Given the description of an element on the screen output the (x, y) to click on. 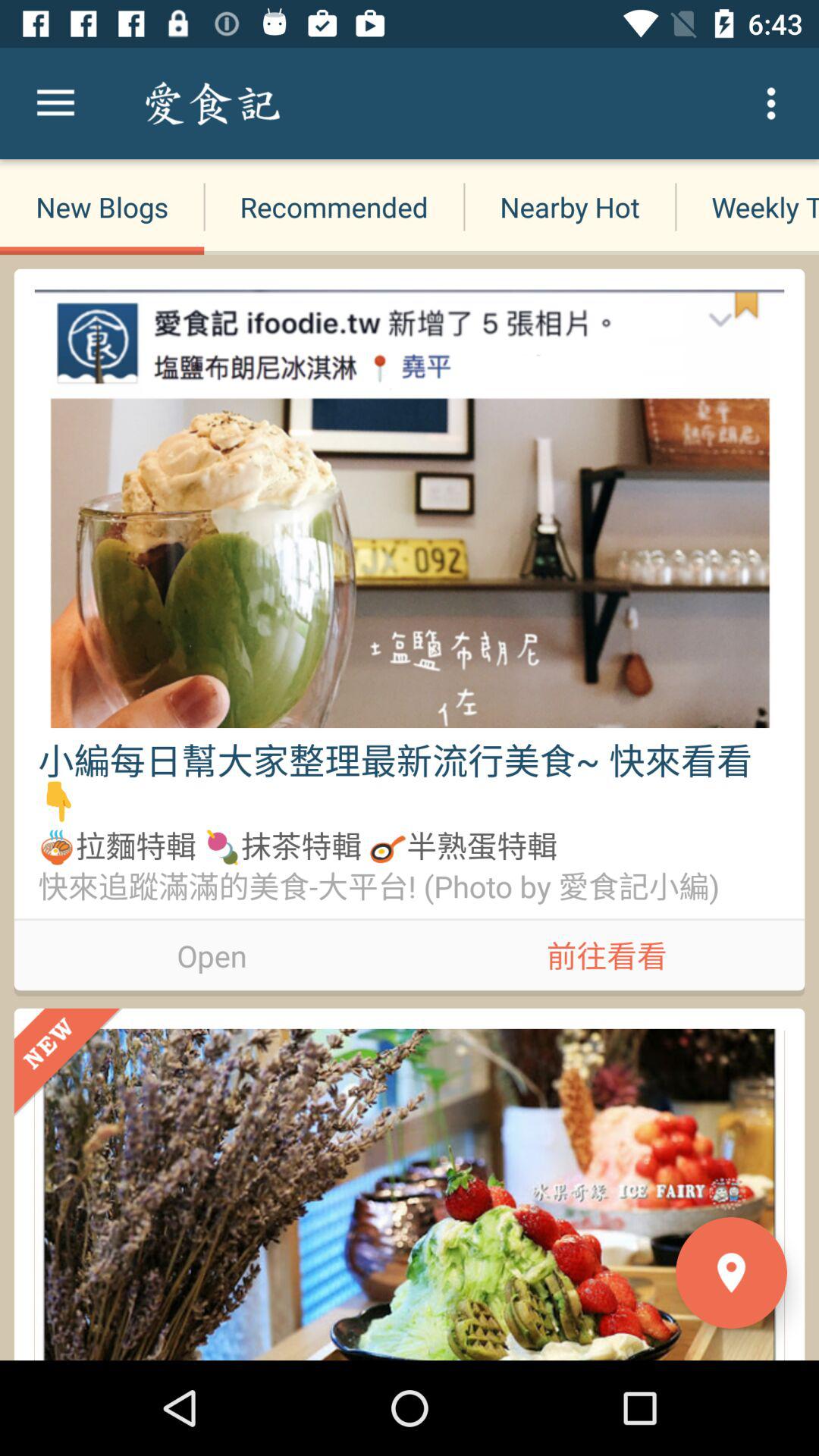
flip until weekly tops icon (747, 206)
